Given the description of an element on the screen output the (x, y) to click on. 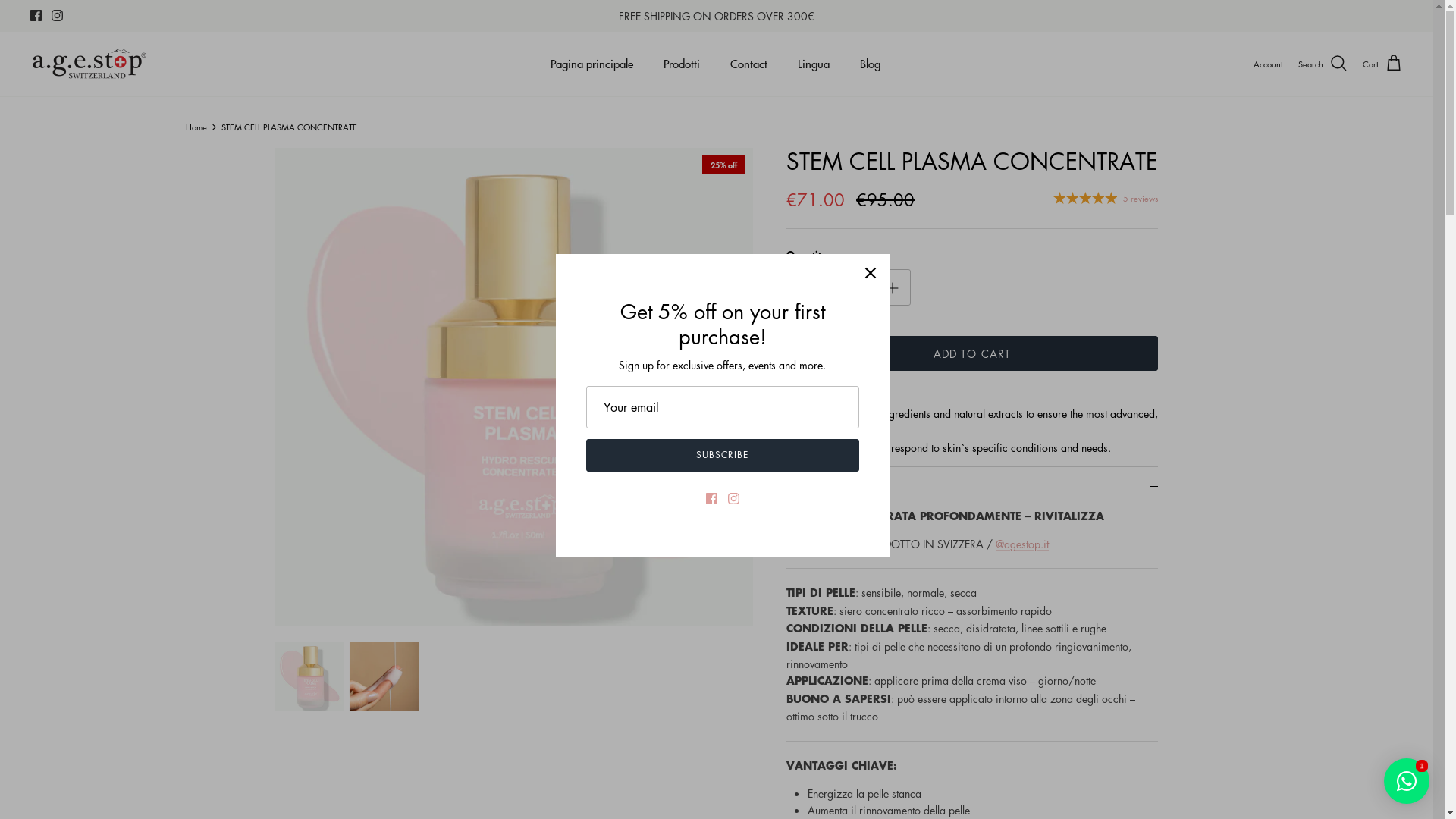
Home Element type: text (196, 126)
ADD TO CART Element type: text (971, 352)
Pagina principale Element type: text (591, 63)
Facebook Element type: text (35, 15)
Plus Element type: text (892, 287)
Minus Element type: text (804, 287)
RIGHT Element type: text (736, 386)
Lingua Element type: text (813, 63)
Search Element type: text (1322, 63)
Prodotti Element type: text (681, 63)
Instagram Element type: text (56, 15)
Cart Element type: text (1382, 63)
STEM CELL PLASMA CONCENTRATE Element type: text (289, 126)
Contact Element type: text (748, 63)
Account Element type: text (1268, 64)
Blog Element type: text (870, 63)
Agestop Switzerland GmbH Element type: hover (88, 64)
SUBSCRIBE Element type: text (721, 455)
@agestop.it Element type: text (1021, 543)
5 reviews Element type: text (1105, 197)
